Given the description of an element on the screen output the (x, y) to click on. 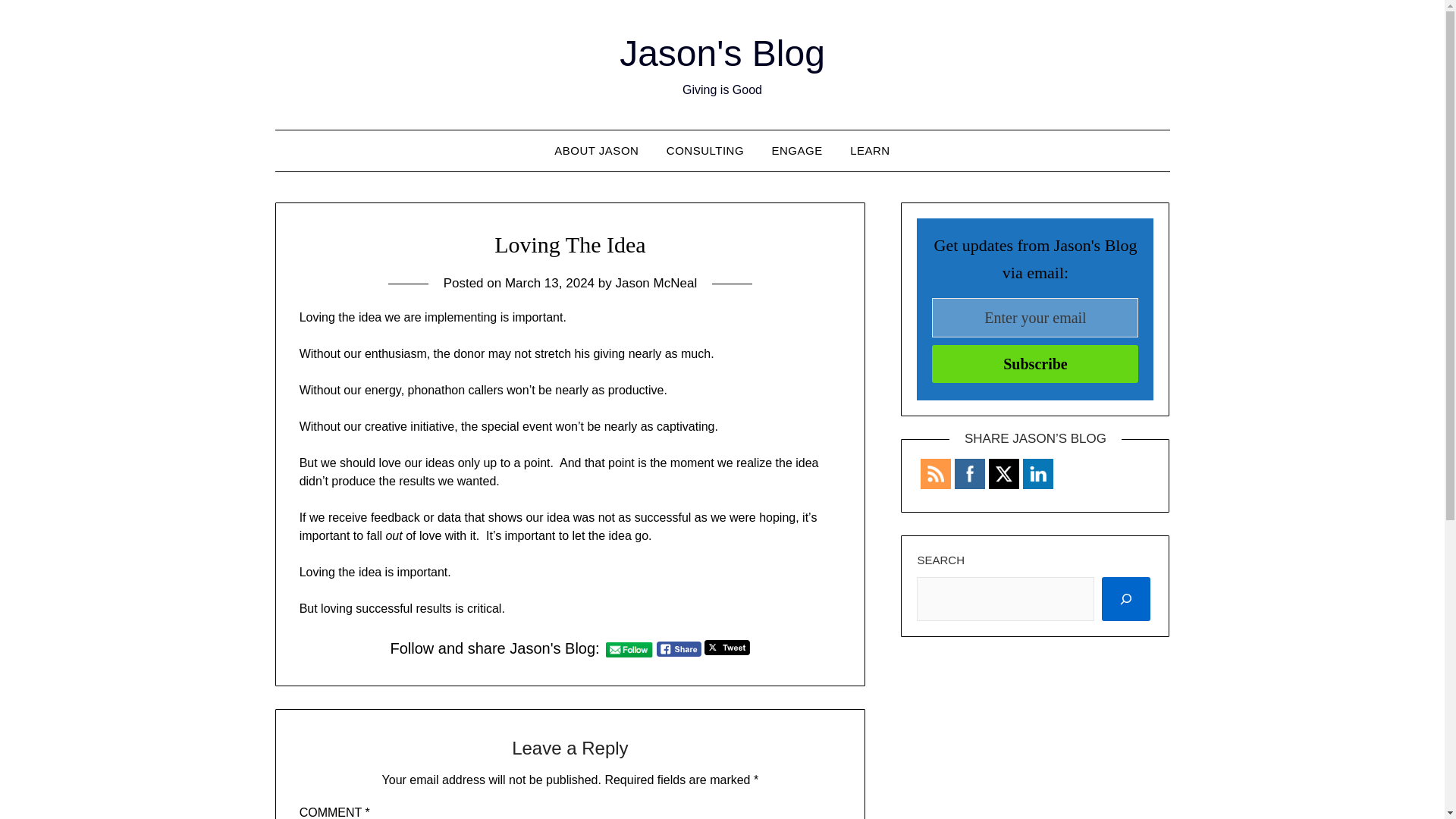
ABOUT JASON (595, 150)
Facebook (969, 474)
Tweet (726, 647)
ENGAGE (797, 150)
Jason McNeal (655, 283)
LEARN (870, 150)
March 13, 2024 (549, 283)
Twitter (1003, 473)
LinkedIn (1037, 474)
RSS (935, 474)
CONSULTING (704, 150)
Subscribe (1034, 363)
Jason's Blog (722, 53)
Facebook Share (678, 648)
Subscribe (1034, 363)
